Given the description of an element on the screen output the (x, y) to click on. 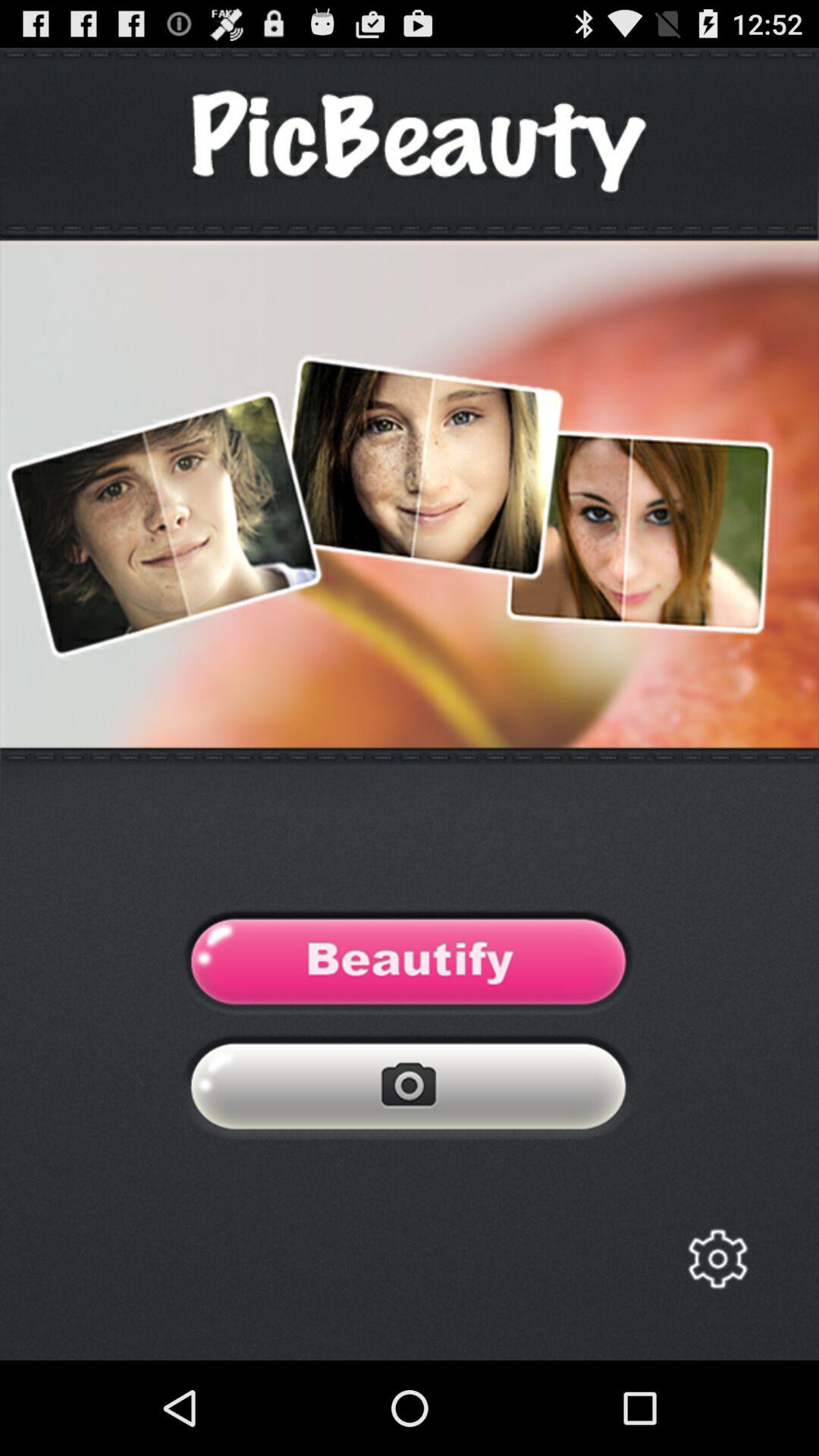
open settings (717, 1258)
